Given the description of an element on the screen output the (x, y) to click on. 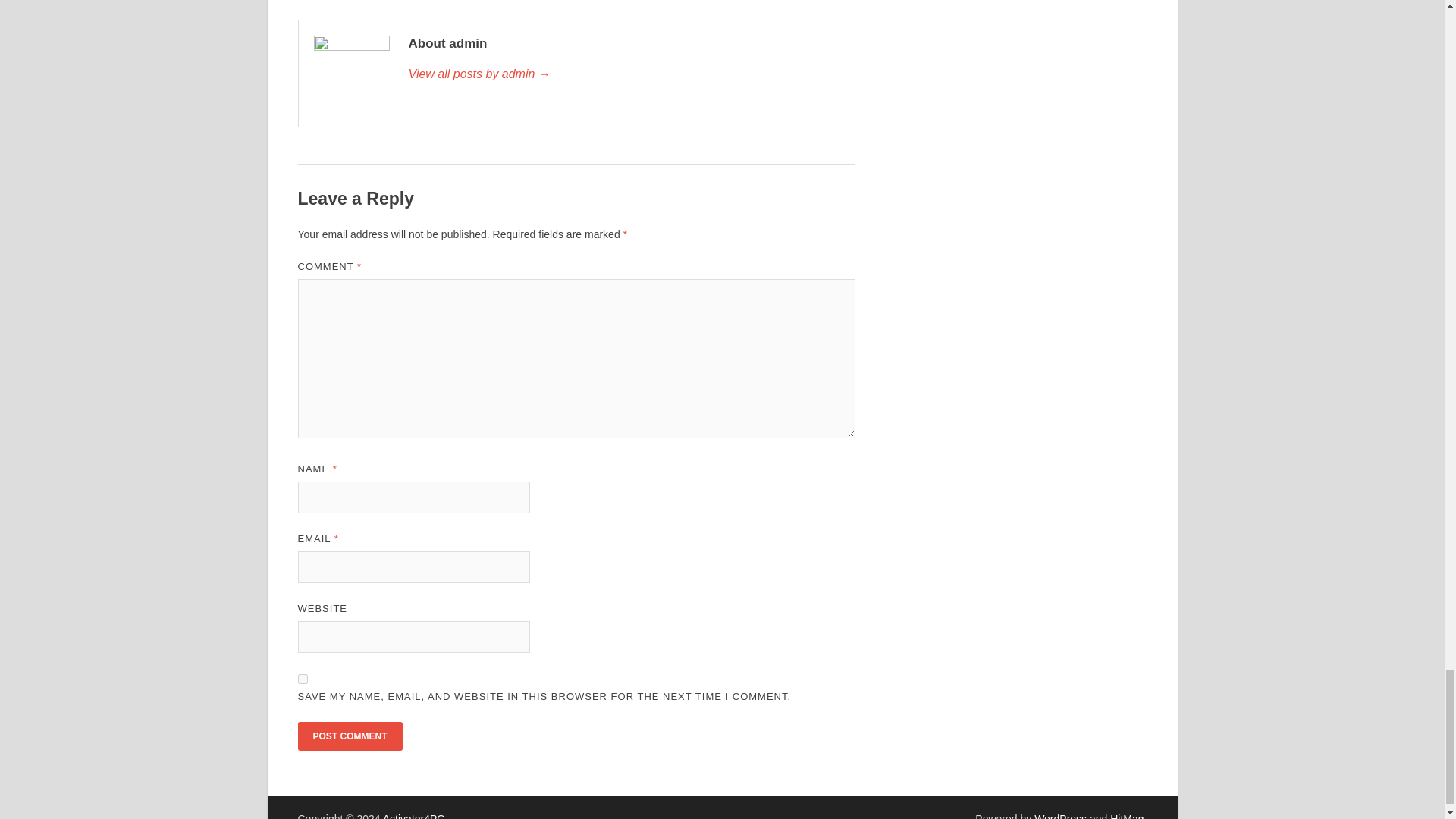
yes (302, 678)
Post Comment (349, 736)
admin (622, 74)
